Given the description of an element on the screen output the (x, y) to click on. 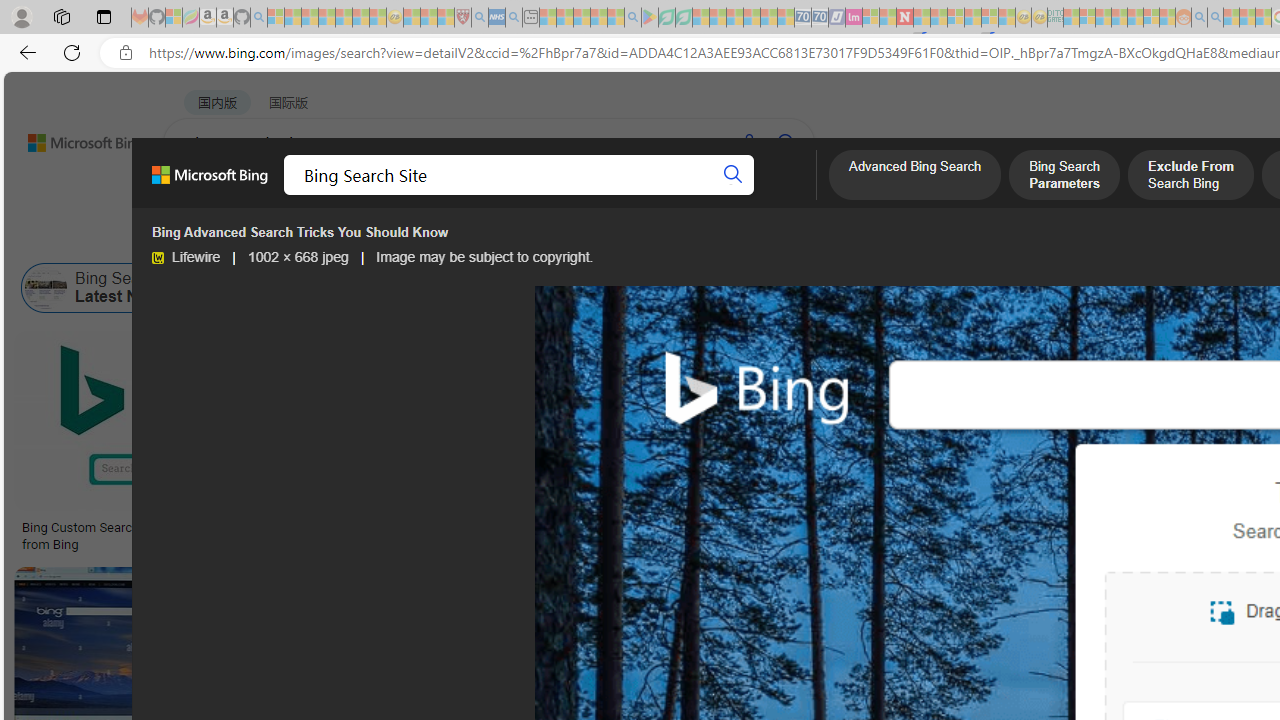
Bing Custom Search: A New Site Search Solution from BingSave (174, 444)
Bing Home Screen (689, 287)
Color (305, 237)
20 Reasons to Search With Bing | PCMag (1093, 528)
Image may be subject to copyright. (484, 257)
Microsoft Bing, Back to Bing search (209, 183)
People (520, 237)
